Given the description of an element on the screen output the (x, y) to click on. 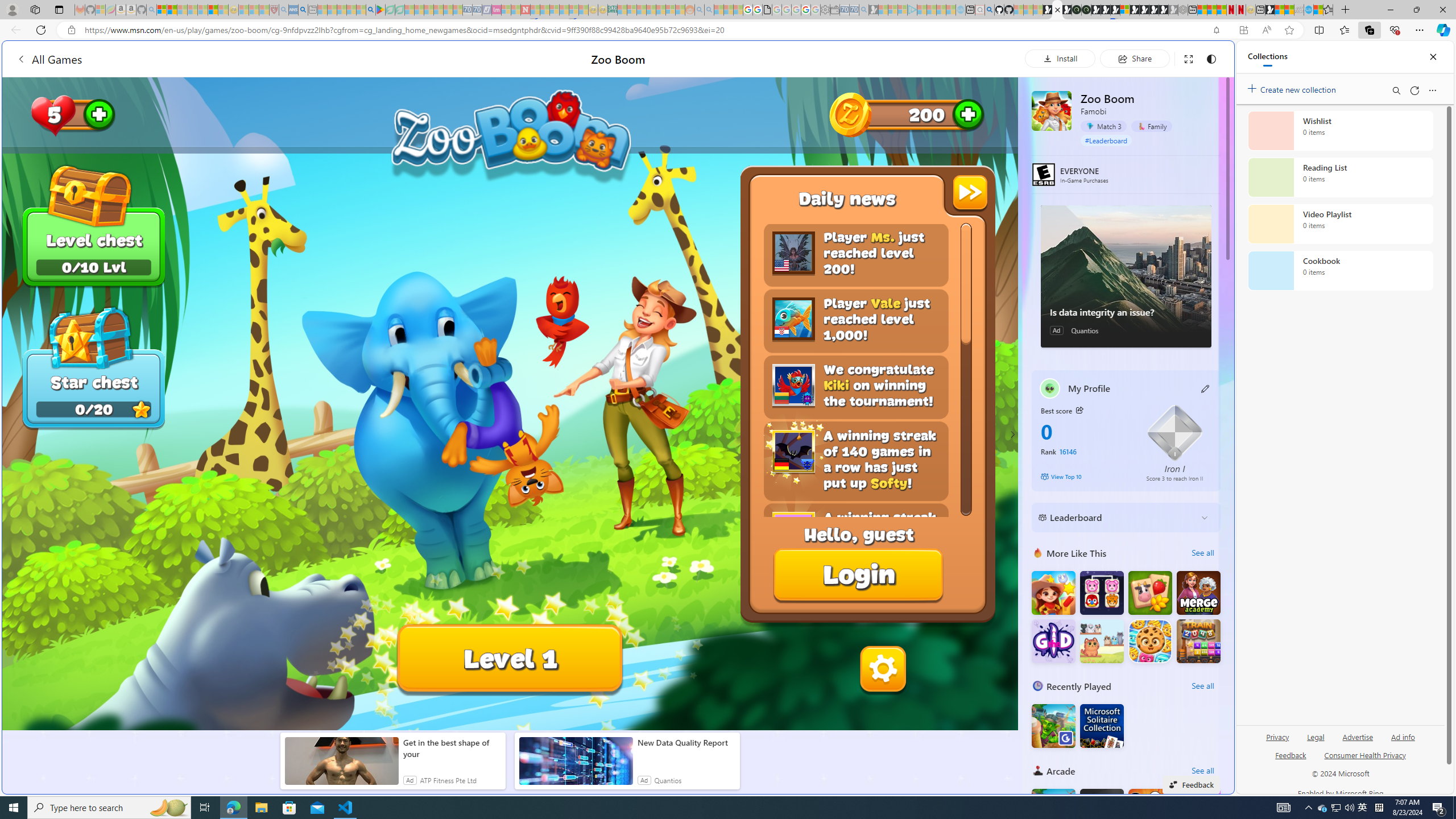
See all (1202, 770)
Train 2048 (1198, 640)
utah sues federal government - Search (303, 9)
Full screen (1187, 58)
Cat Sort Puzzle (1101, 640)
Is data integrity an issue? (1125, 312)
Utah sues federal government - Search - Sleeping (708, 9)
Class: control (1011, 434)
